Given the description of an element on the screen output the (x, y) to click on. 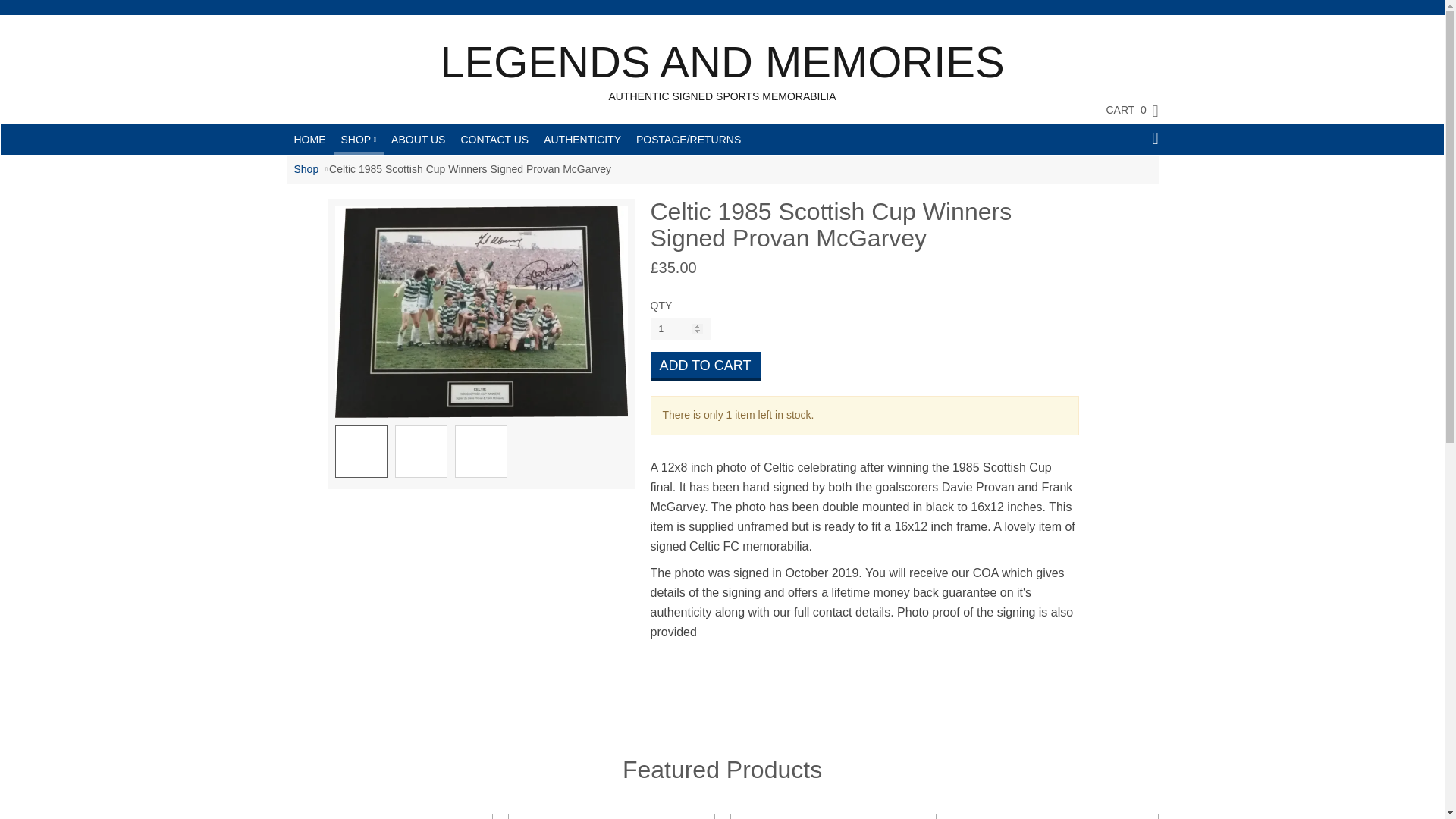
1 (680, 328)
SHOP (358, 137)
Add to Cart (705, 366)
LEGENDS AND MEMORIES (721, 61)
CART  0   (1123, 109)
HOME (309, 139)
